Given the description of an element on the screen output the (x, y) to click on. 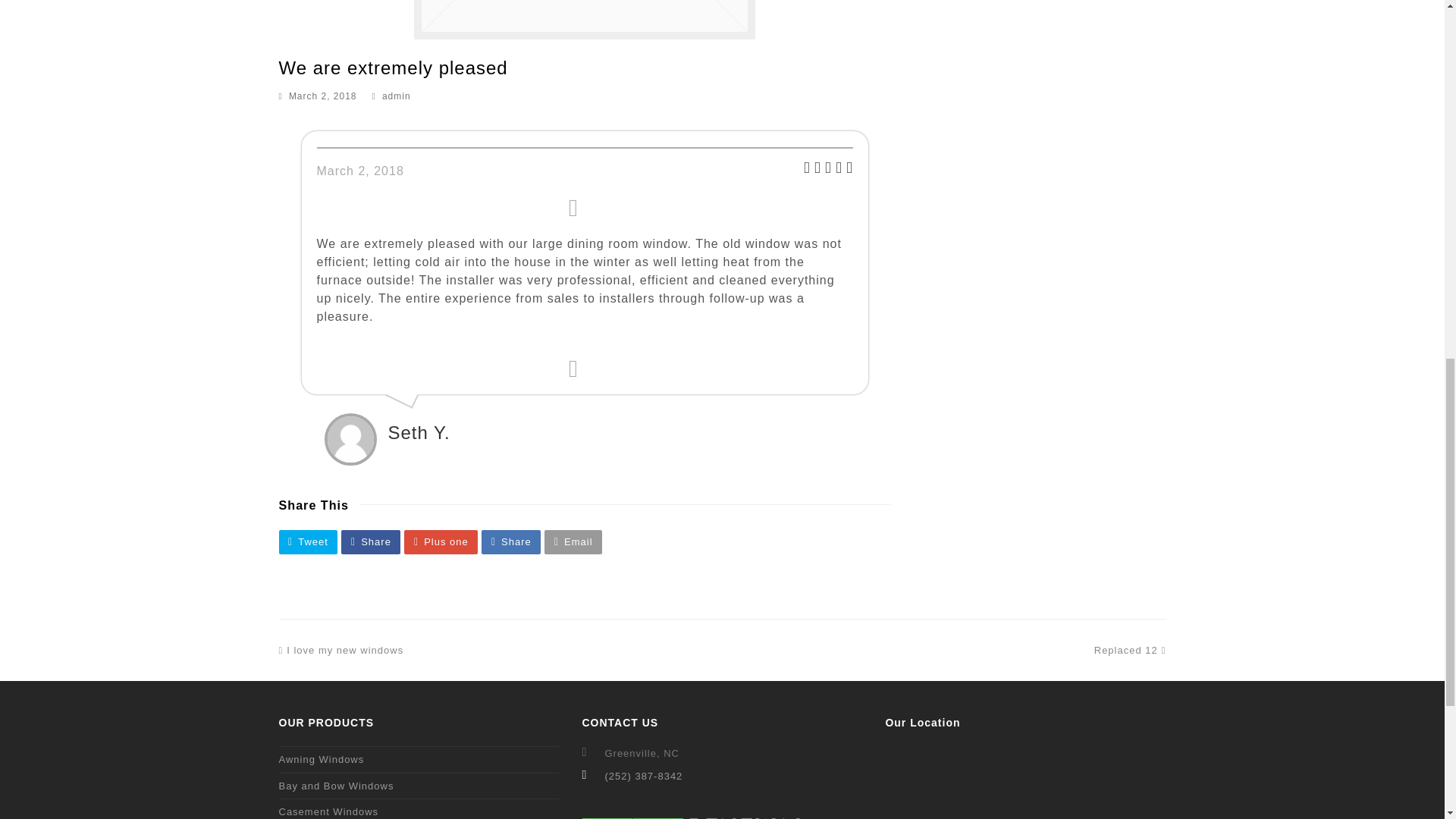
Bay and Bow Windows (336, 785)
admin (395, 95)
Plus one (440, 541)
Tweet (308, 541)
Awning Windows (322, 758)
Casement Windows (341, 650)
Email (1130, 650)
Posts by admin (328, 811)
